Given the description of an element on the screen output the (x, y) to click on. 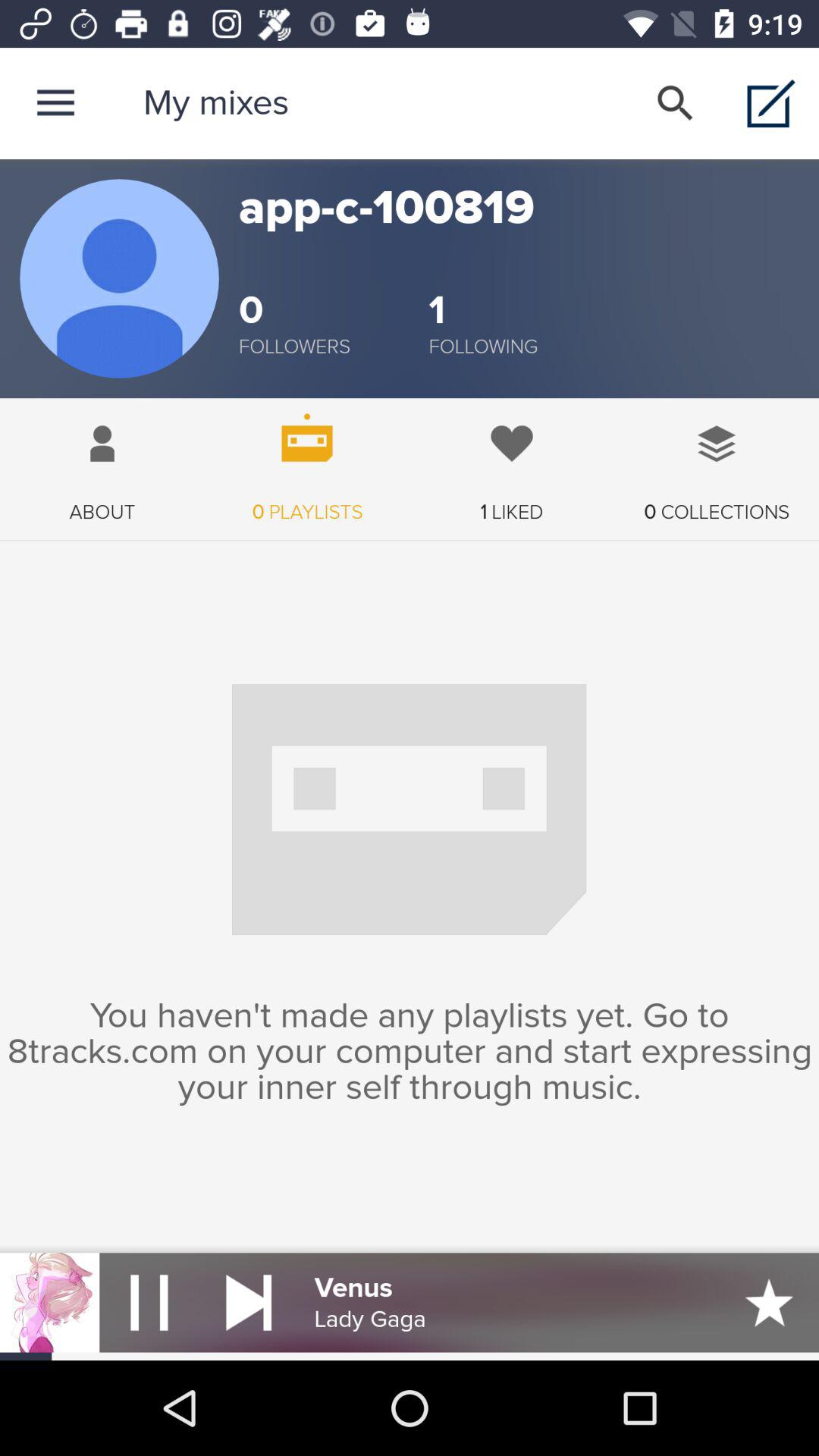
flip until the following (483, 346)
